Given the description of an element on the screen output the (x, y) to click on. 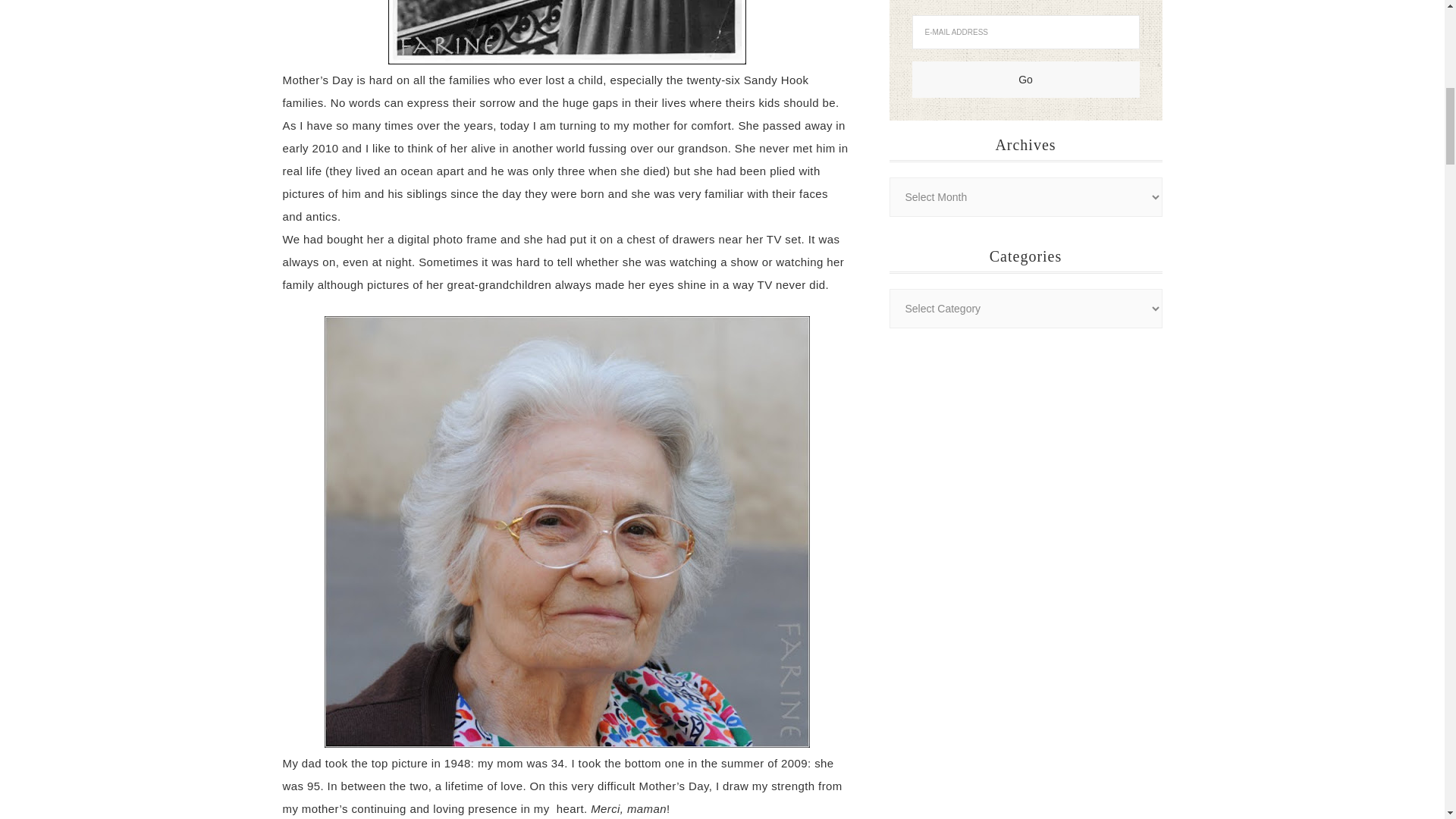
Go (1024, 79)
